Given the description of an element on the screen output the (x, y) to click on. 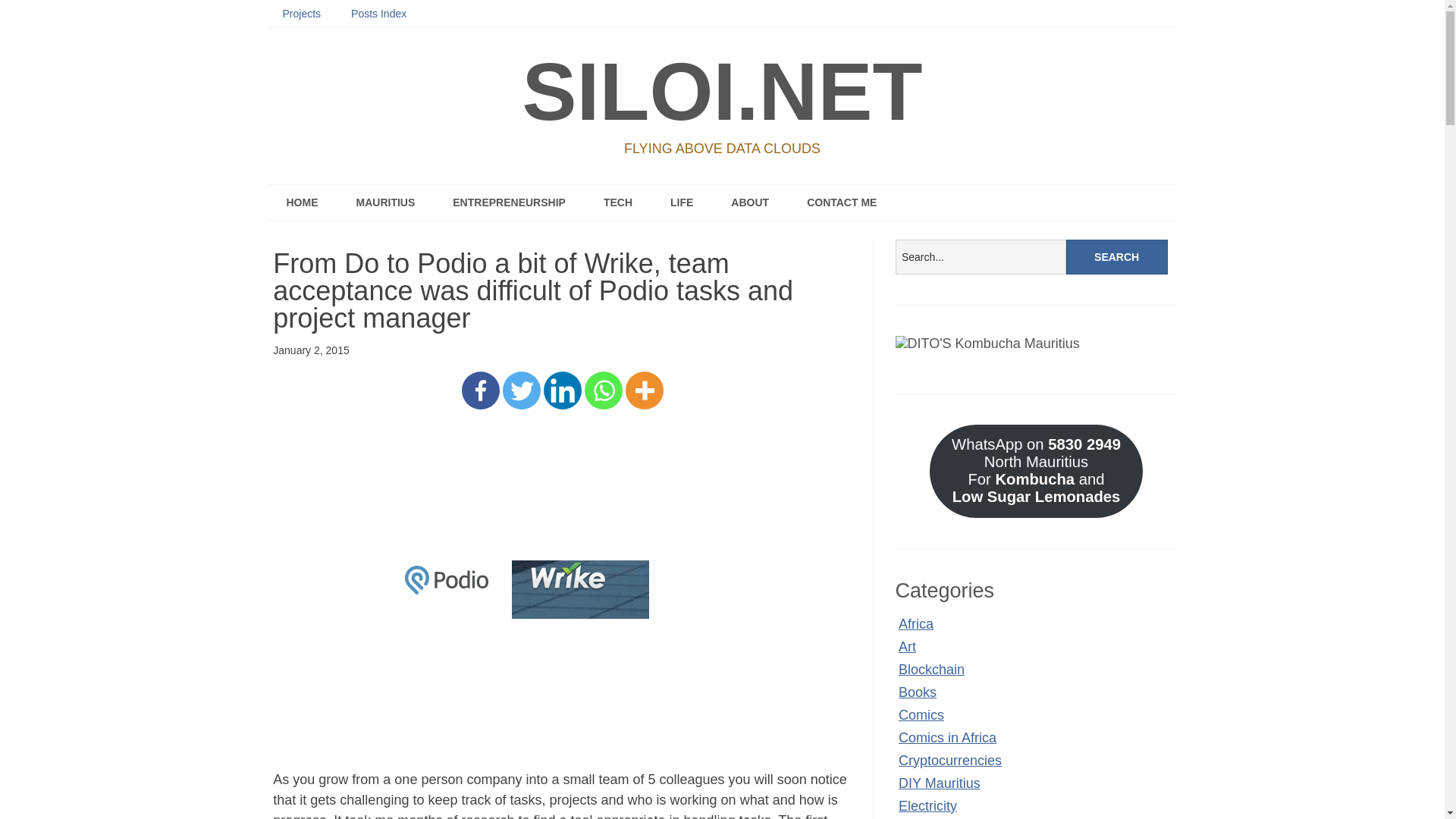
HOME (301, 202)
Facebook (480, 390)
Posts Index (379, 13)
More (644, 390)
Linkedin (561, 390)
Projects (301, 13)
ENTREPRENEURSHIP (509, 202)
Twitter (521, 390)
Whatsapp (604, 390)
MAURITIUS (384, 202)
